Given the description of an element on the screen output the (x, y) to click on. 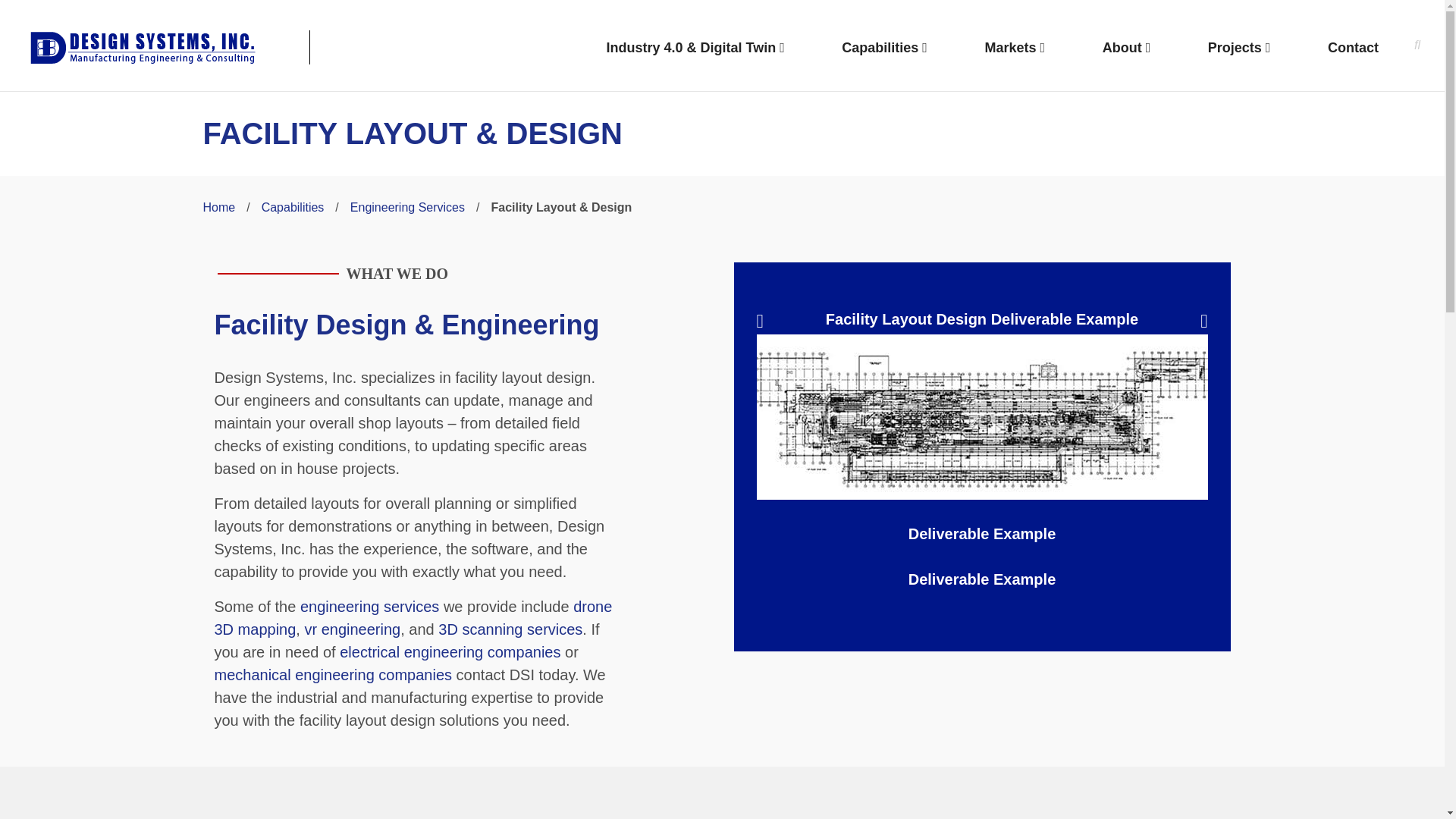
Projects (1238, 48)
About (1126, 48)
Capabilities (884, 48)
Home (219, 206)
Markets (1014, 48)
Capabilities (293, 206)
Contact (1353, 48)
Engineering Services (407, 206)
